Given the description of an element on the screen output the (x, y) to click on. 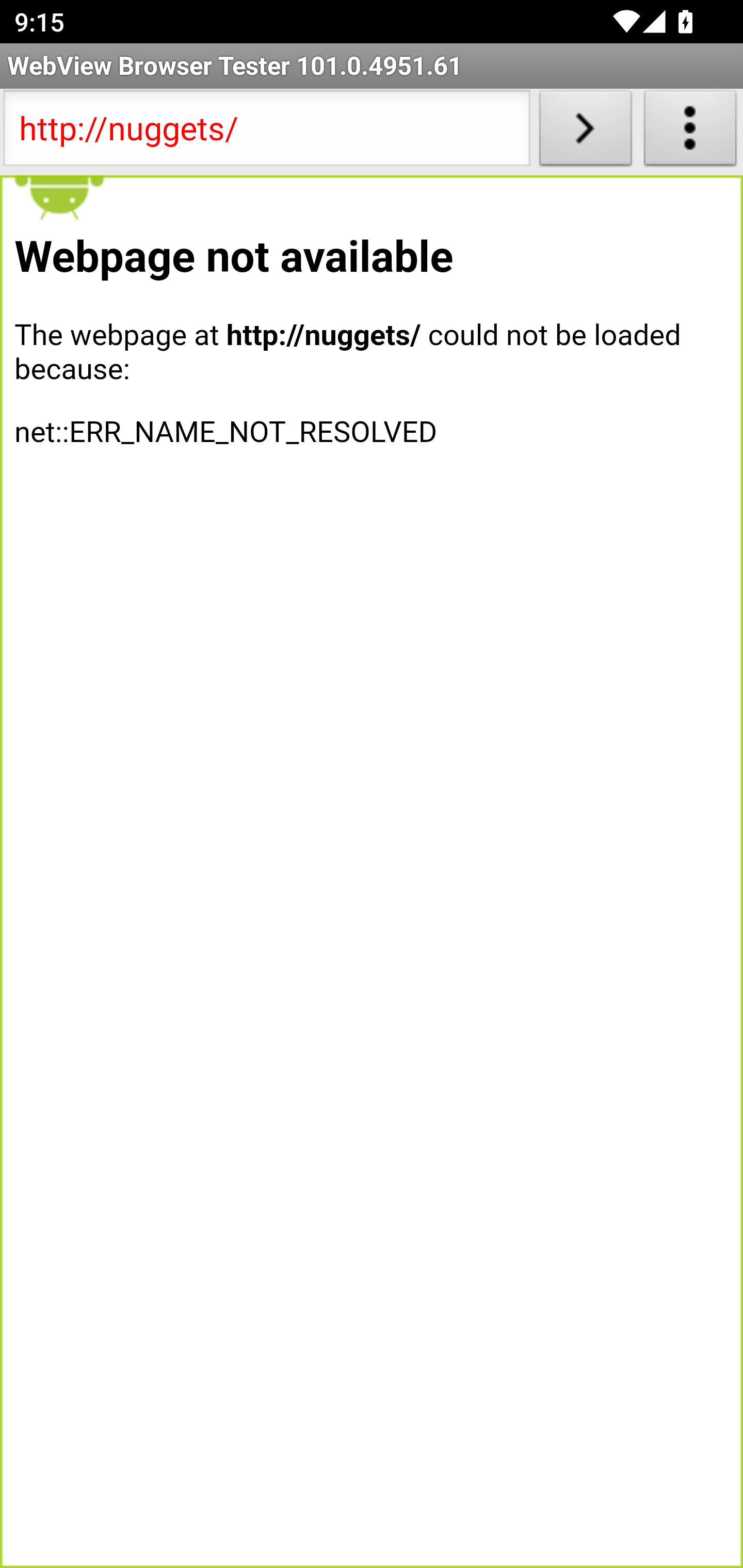
http://nuggets/ (266, 132)
Load URL (585, 132)
About WebView (690, 132)
